Given the description of an element on the screen output the (x, y) to click on. 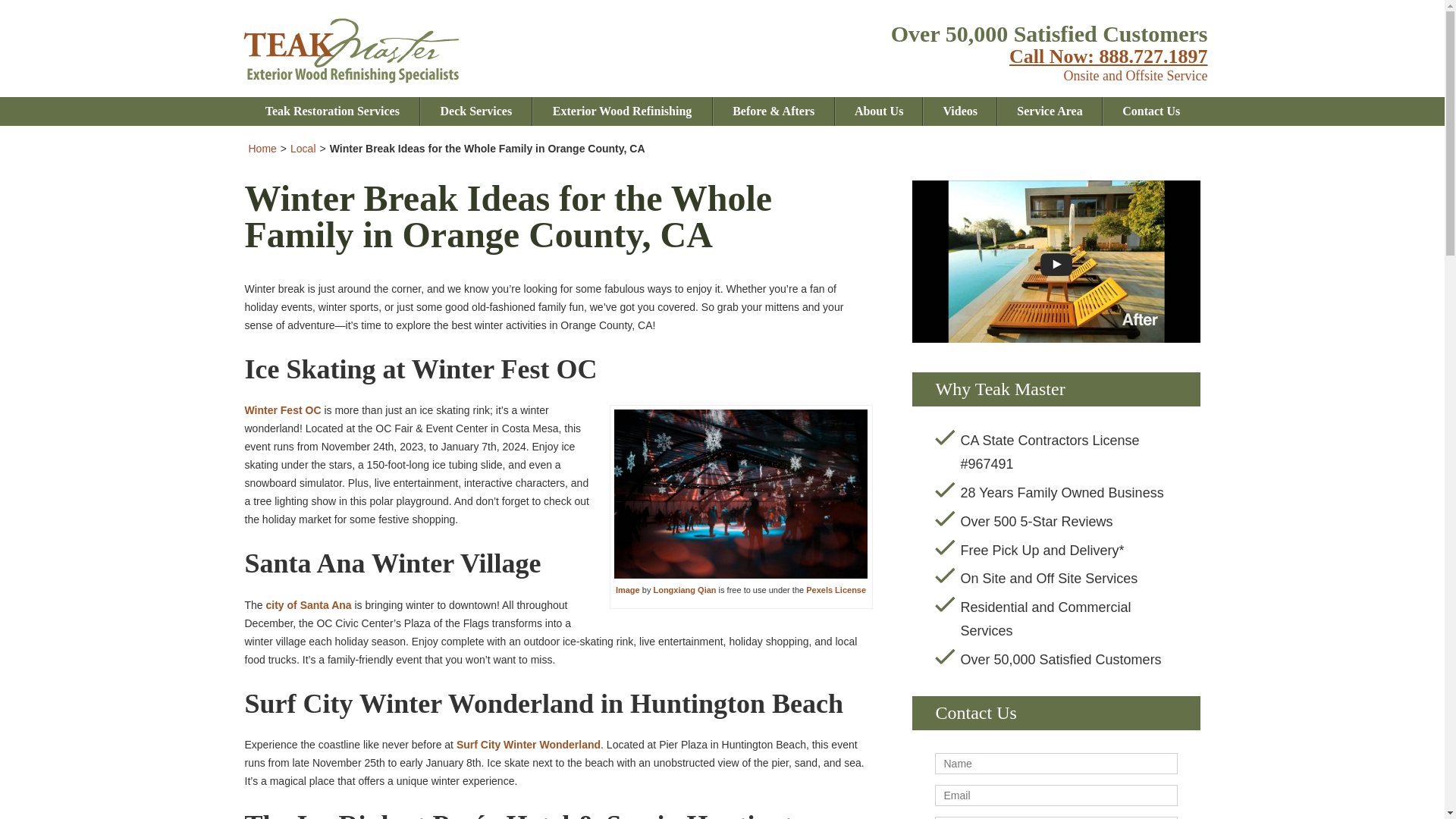
Teak Master (349, 80)
Call Us Now (1108, 56)
